Given the description of an element on the screen output the (x, y) to click on. 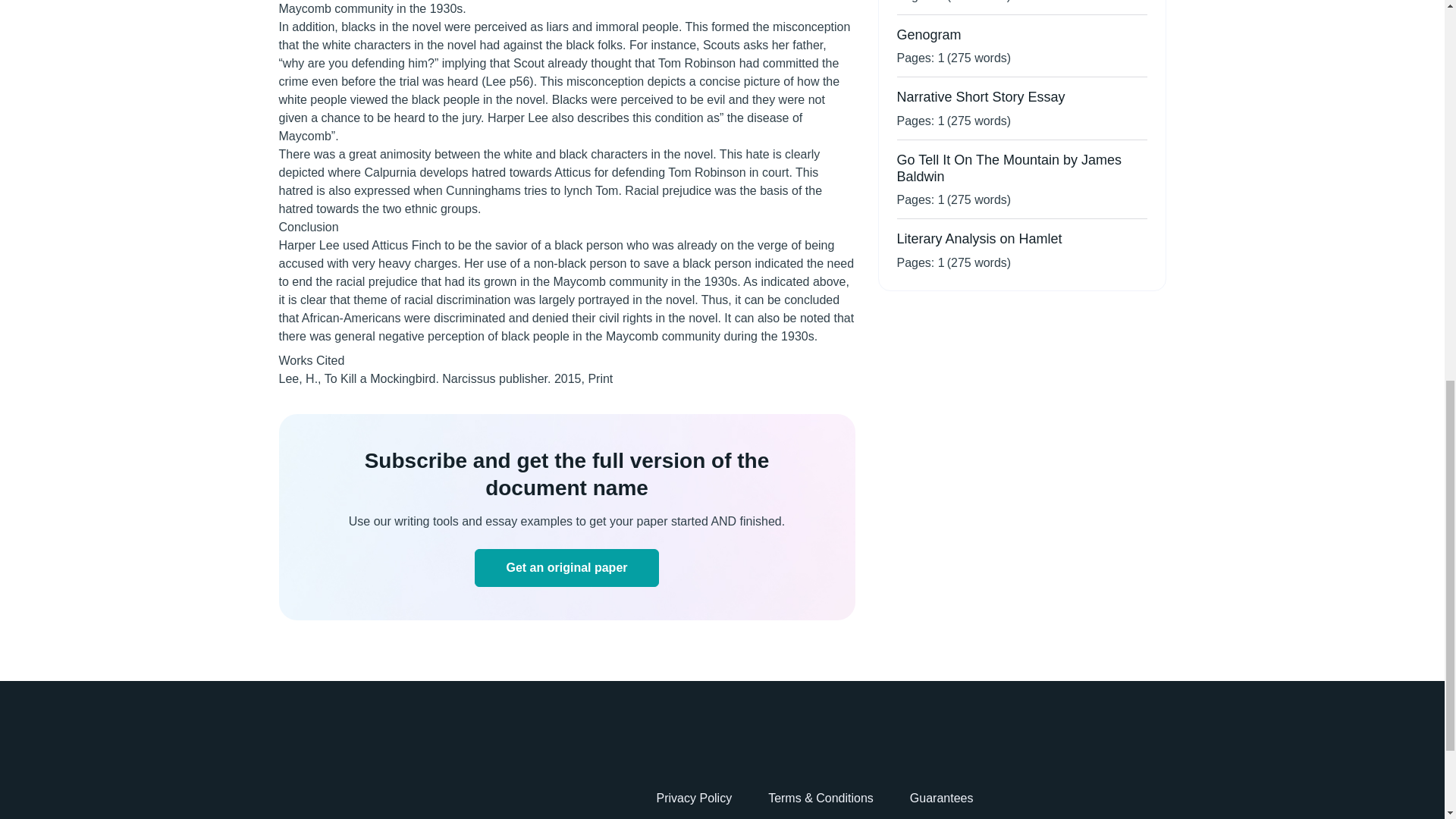
Study Zoomer (333, 780)
Literary Analysis on Hamlet (978, 238)
Get an original paper (566, 567)
Subscribe (566, 567)
Guarantees (942, 798)
Privacy Policy (694, 798)
Narrative Short Story Essay (980, 96)
Go Tell It On The Mountain by James Baldwin (1008, 168)
Genogram (928, 34)
